Given the description of an element on the screen output the (x, y) to click on. 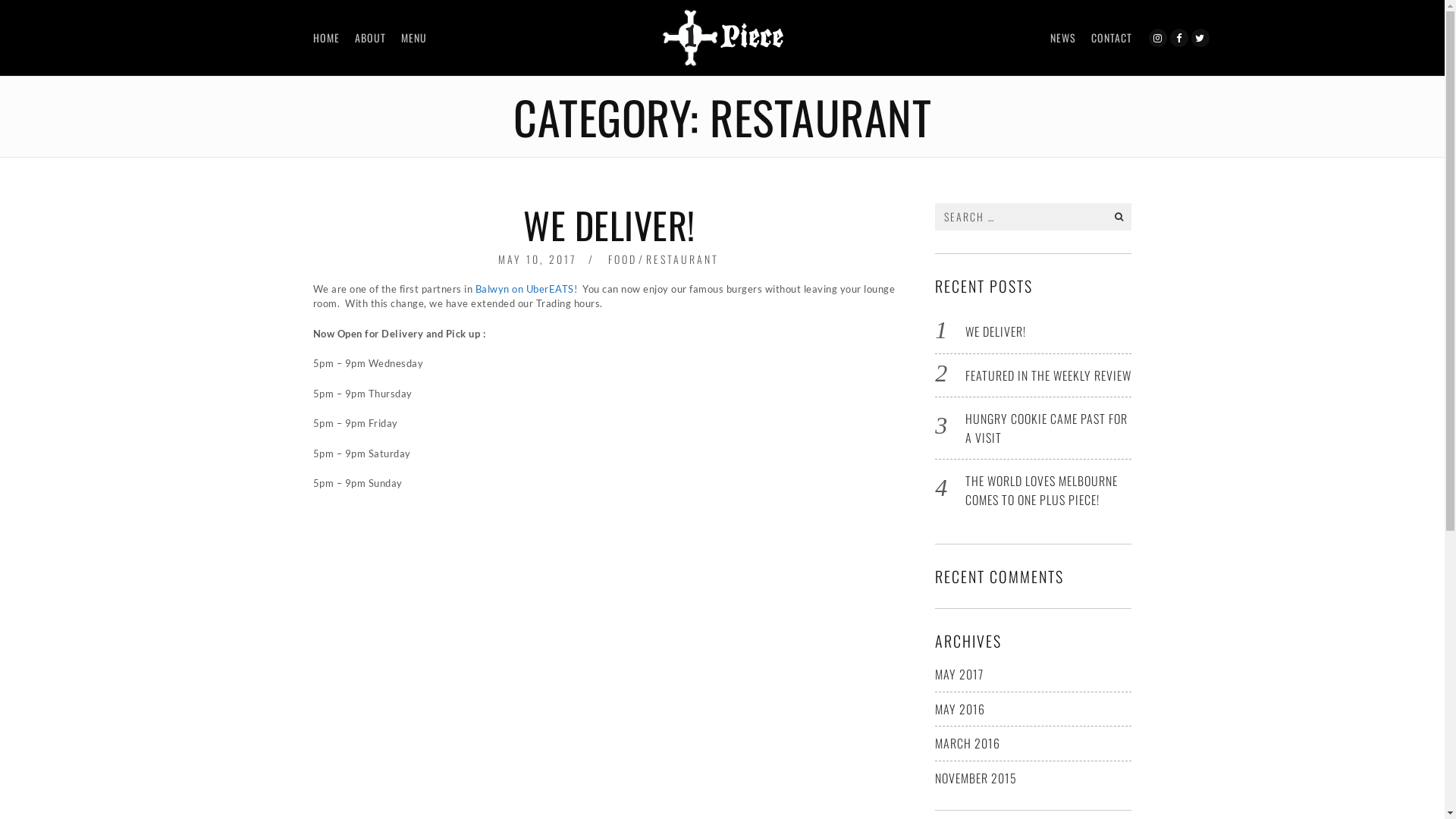
Go Element type: hover (1118, 216)
FOOD Element type: text (622, 258)
HOME Element type: text (325, 37)
CONTACT Element type: text (1110, 37)
MARCH 2016 Element type: text (967, 743)
WE DELIVER! Element type: text (609, 224)
Balwyn on UberEATS! Element type: text (525, 288)
MAY 10, 2017
JANUARY 11, 2021 Element type: text (537, 258)
MAY 2017 Element type: text (959, 674)
NEWS Element type: text (1062, 37)
FEATURED IN THE WEEKLY REVIEW Element type: text (1048, 374)
RESTAURANT Element type: text (682, 258)
ABOUT Element type: text (369, 37)
NOVEMBER 2015 Element type: text (975, 777)
MENU Element type: text (413, 37)
HUNGRY COOKIE CAME PAST FOR A VISIT Element type: text (1046, 427)
MAY 2016 Element type: text (960, 708)
WE DELIVER! Element type: text (995, 331)
THE WORLD LOVES MELBOURNE COMES TO ONE PLUS PIECE! Element type: text (1041, 489)
